Given the description of an element on the screen output the (x, y) to click on. 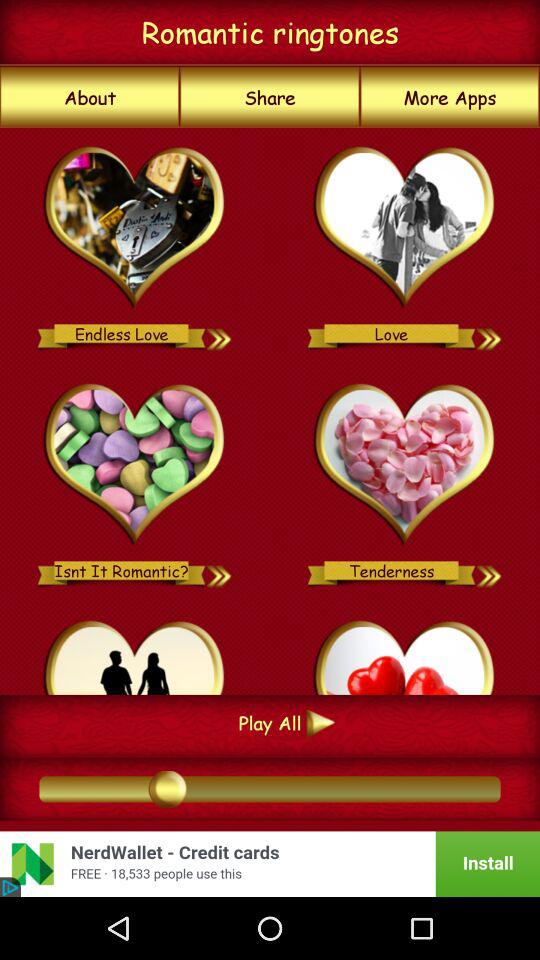
select option (134, 465)
